Given the description of an element on the screen output the (x, y) to click on. 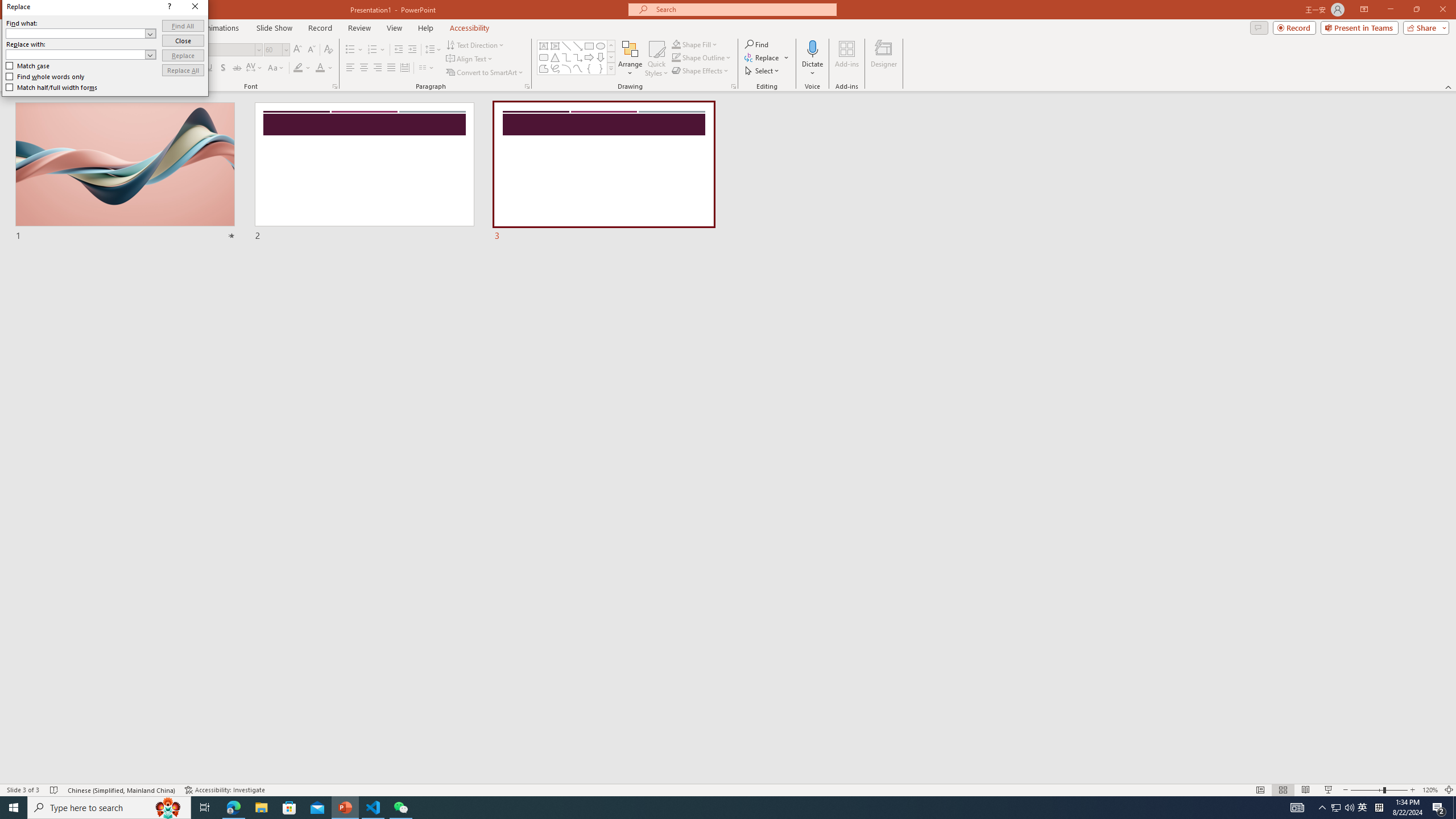
Text Highlight Color (302, 67)
Isosceles Triangle (554, 57)
Shape Outline (701, 56)
Action Center, 2 new notifications (1439, 807)
Microsoft Edge - 1 running window (233, 807)
Start (13, 807)
Columns (426, 67)
Font Color Red (320, 67)
Select (762, 69)
